Given the description of an element on the screen output the (x, y) to click on. 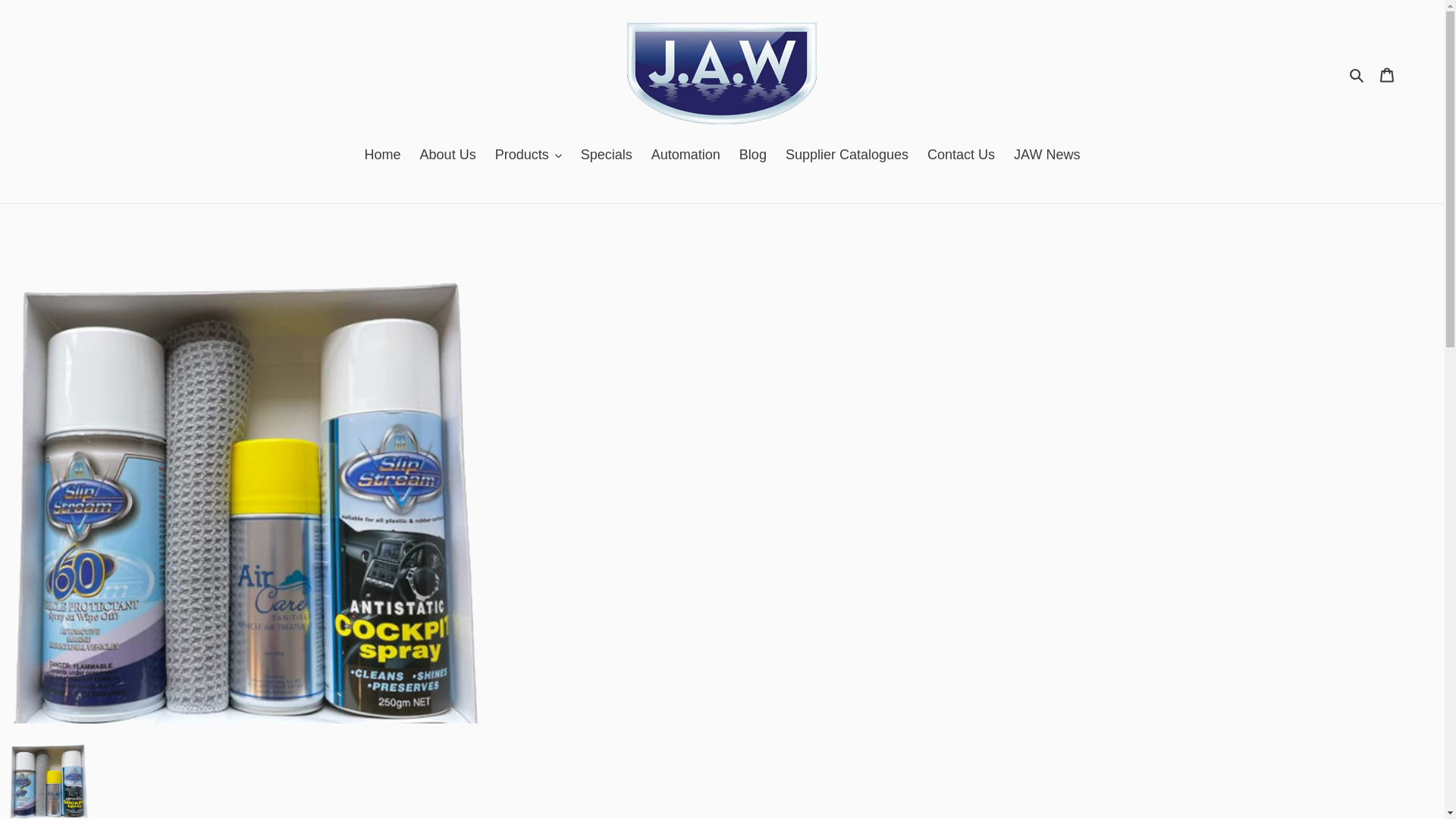
Cart (1387, 73)
Search (1357, 74)
Home (382, 155)
About Us (447, 155)
Products (528, 155)
